Given the description of an element on the screen output the (x, y) to click on. 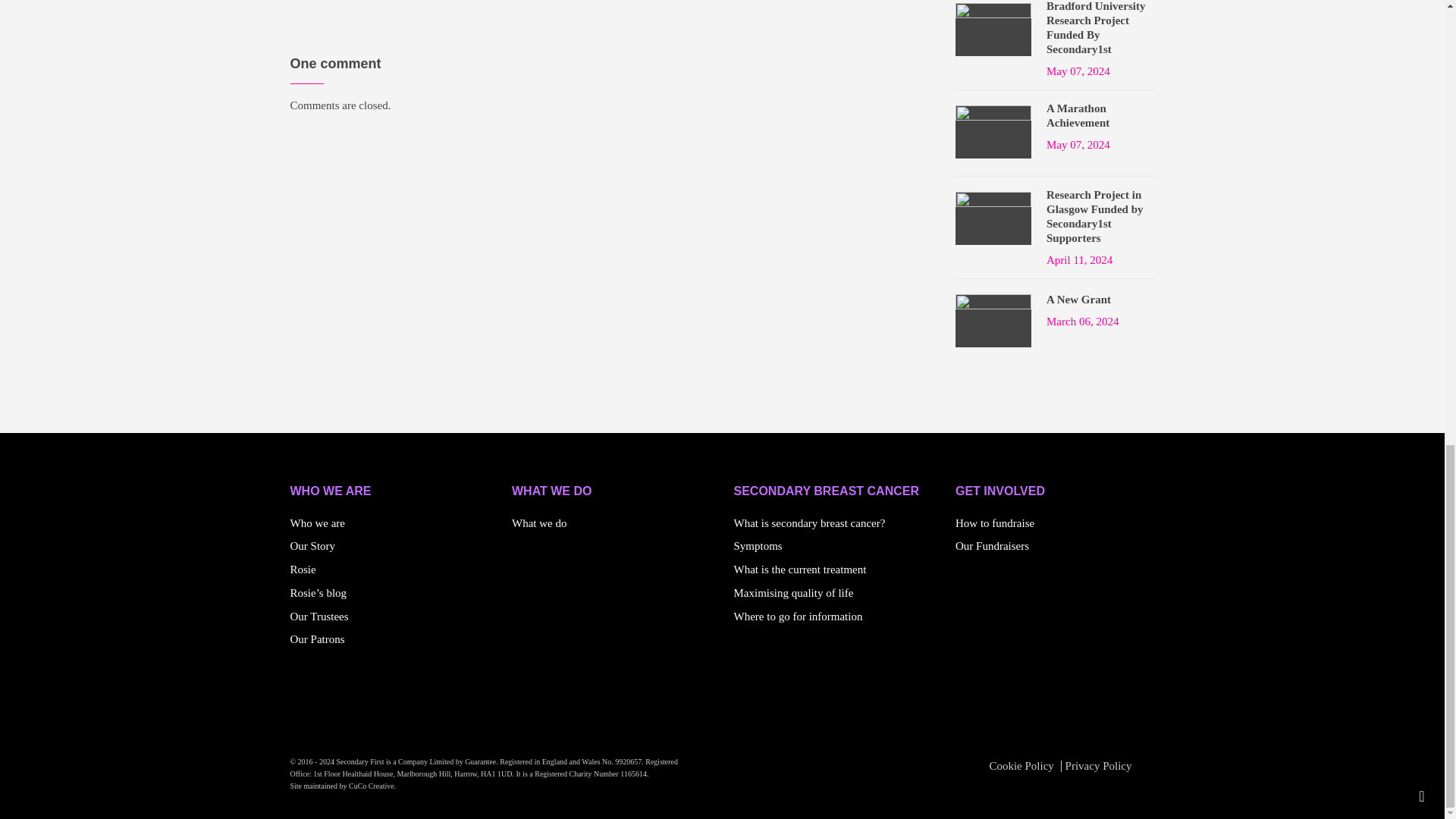
Permalink to A New Grant (1078, 299)
Permalink to A Marathon Achievement (1100, 115)
